Given the description of an element on the screen output the (x, y) to click on. 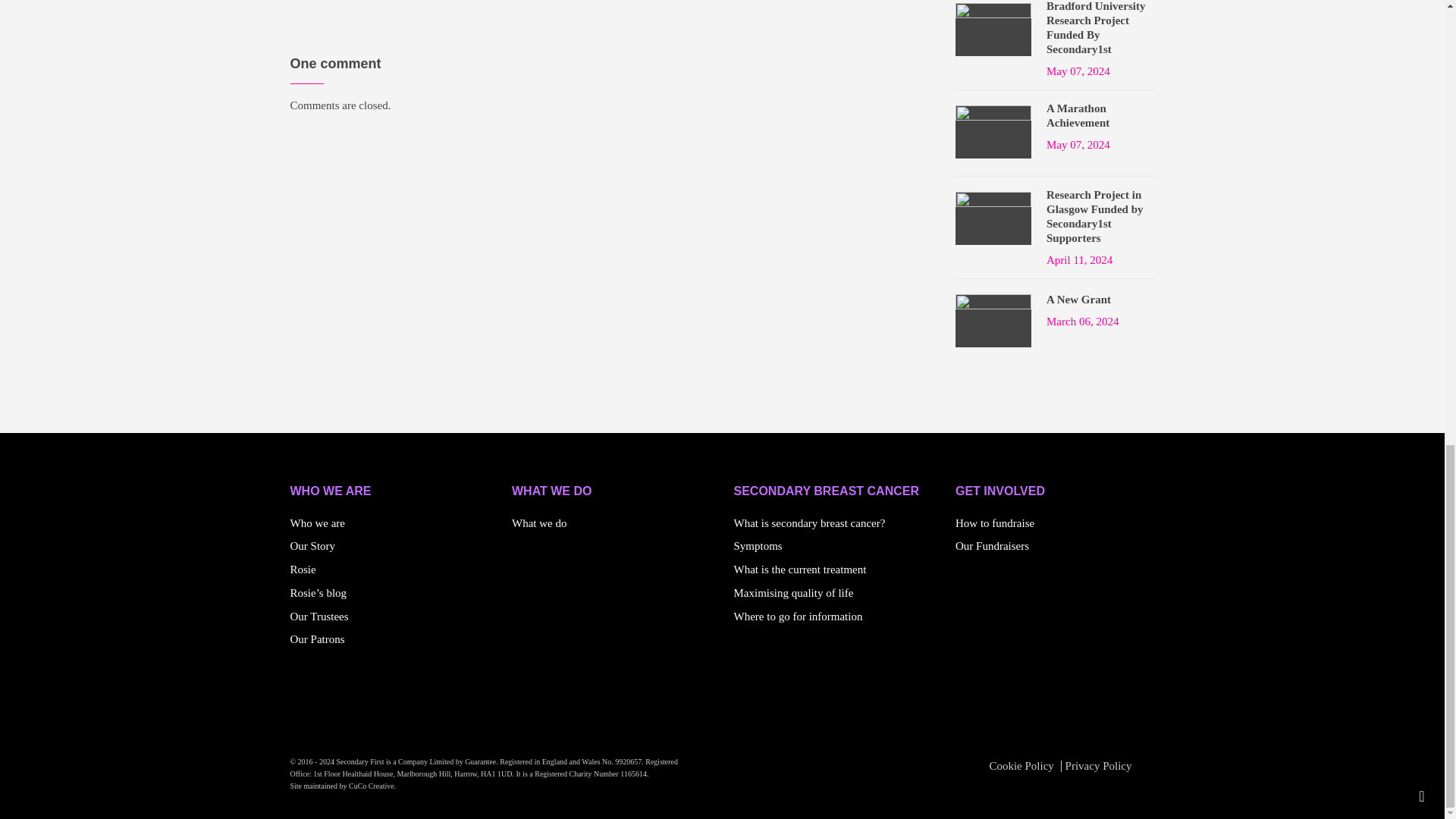
Permalink to A New Grant (1078, 299)
Permalink to A Marathon Achievement (1100, 115)
